Given the description of an element on the screen output the (x, y) to click on. 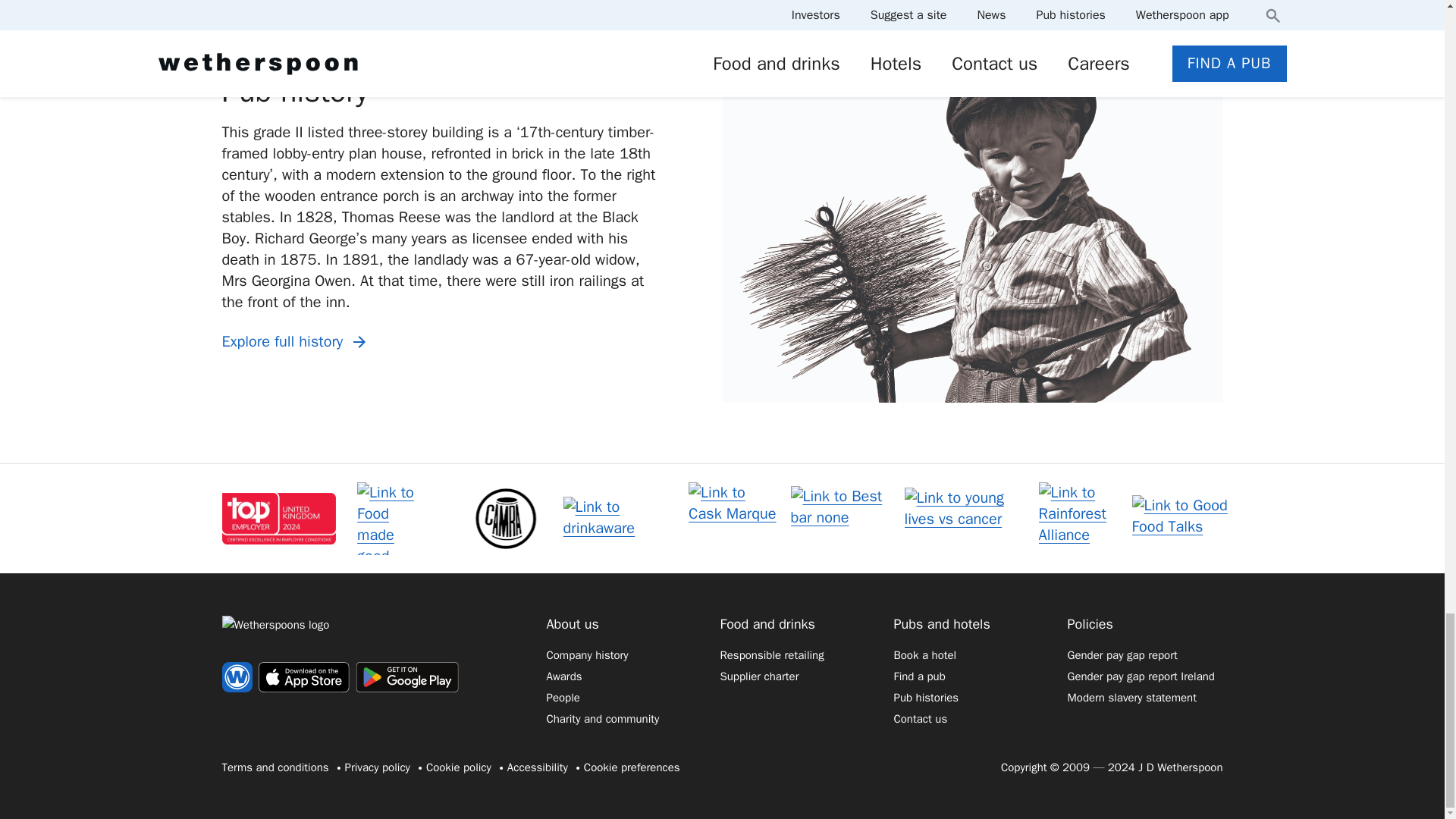
Explore full history (296, 341)
